Given the description of an element on the screen output the (x, y) to click on. 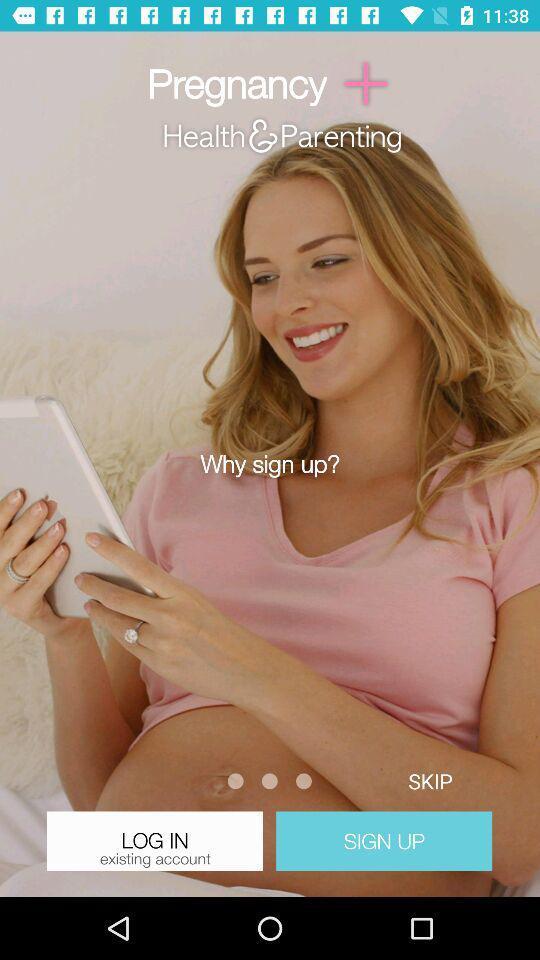
open the button above sign up button (430, 780)
